Given the description of an element on the screen output the (x, y) to click on. 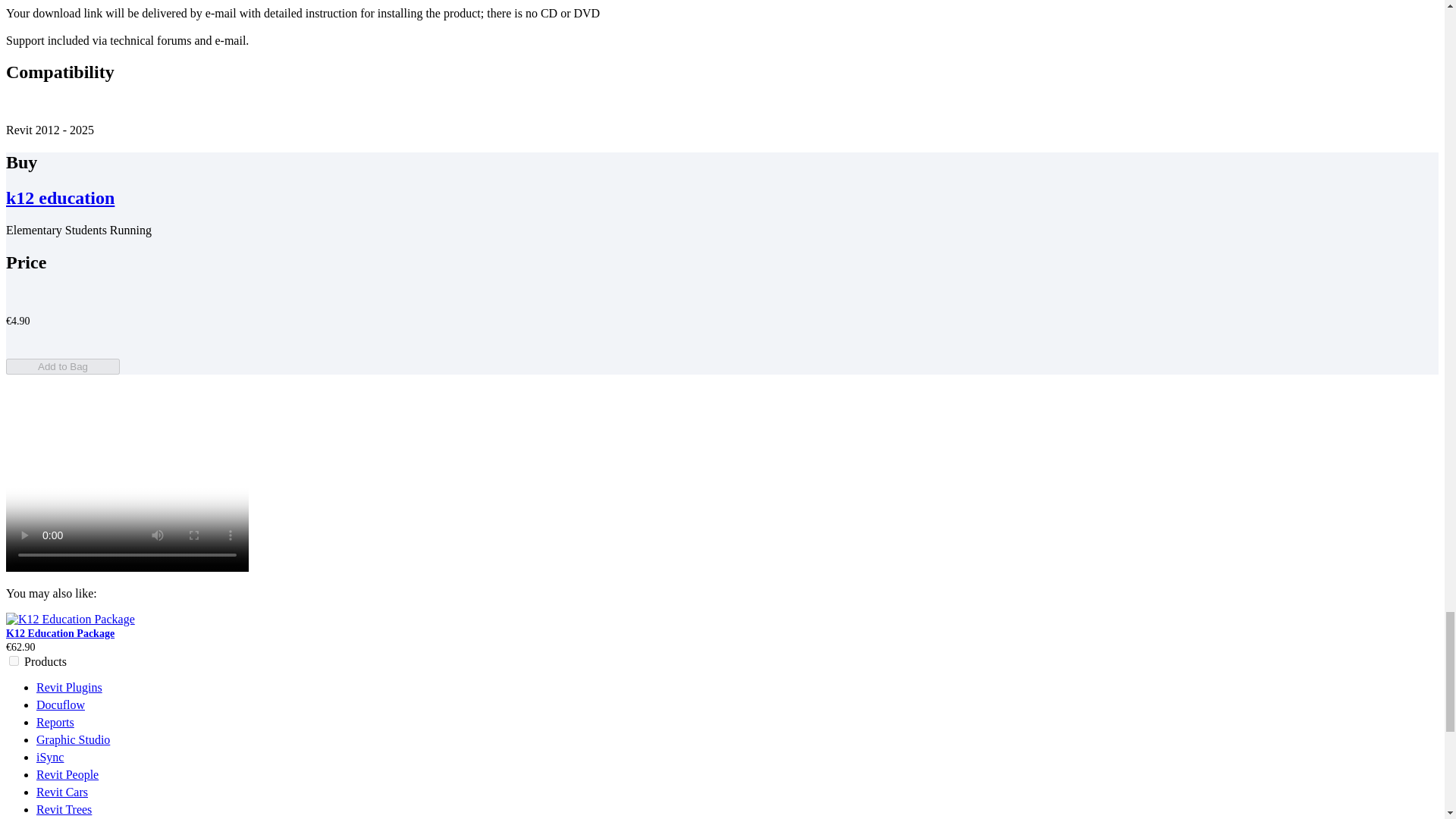
K12 Education Package (60, 633)
on (13, 660)
K12 Education Package (70, 618)
Elementary Students Running (126, 480)
k12 education (60, 198)
Add to Bag (62, 366)
